Given the description of an element on the screen output the (x, y) to click on. 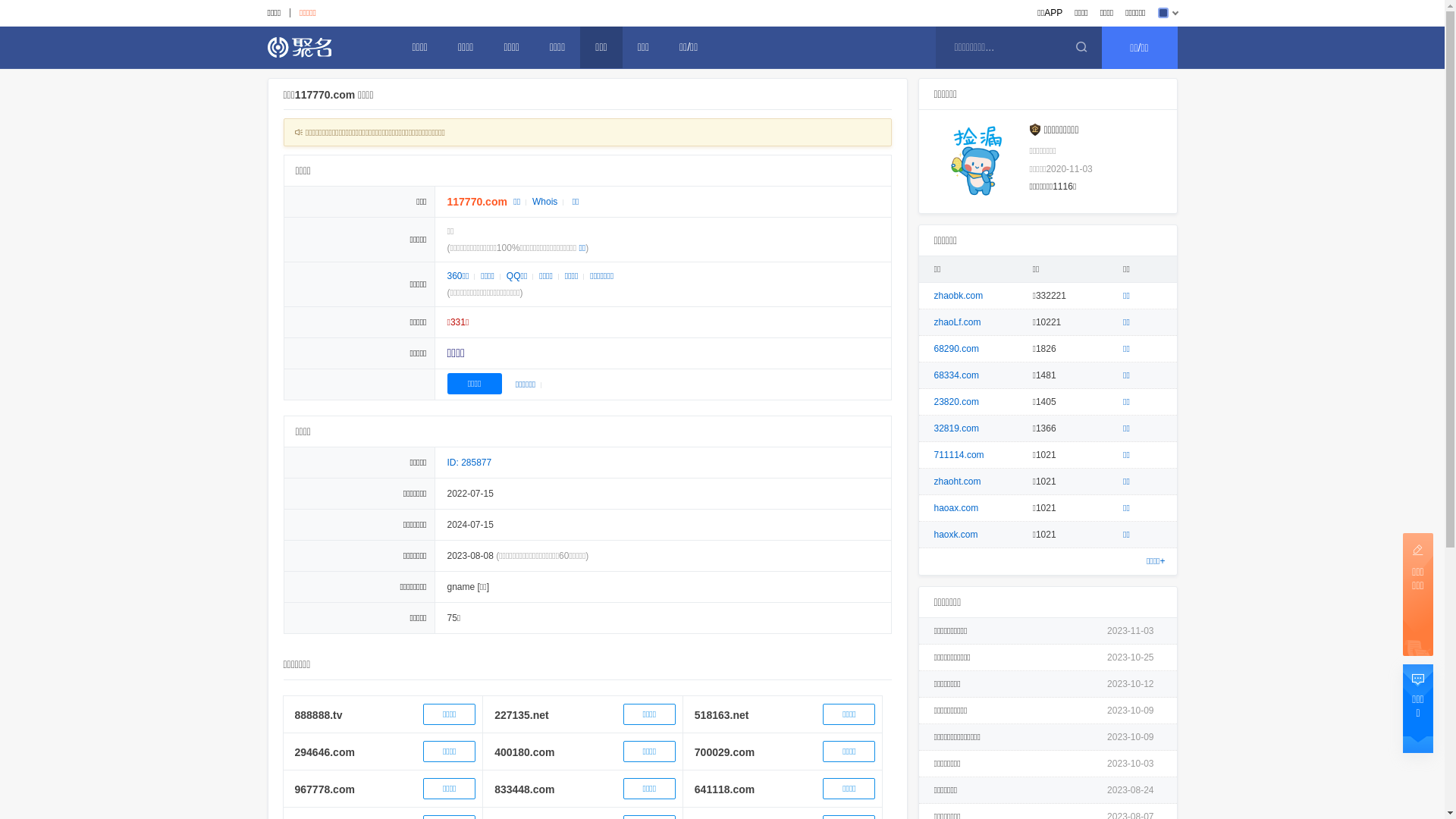
68290.com Element type: text (956, 348)
haoax.com Element type: text (956, 507)
zhaobk.com Element type: text (958, 295)
711114.com Element type: text (959, 454)
haoxk.com Element type: text (956, 534)
ID: 285877 Element type: text (469, 462)
32819.com Element type: text (956, 428)
23820.com Element type: text (956, 401)
Whois Element type: text (544, 201)
zhaoht.com Element type: text (957, 481)
68334.com Element type: text (956, 375)
zhaoLf.com Element type: text (957, 321)
